Given the description of an element on the screen output the (x, y) to click on. 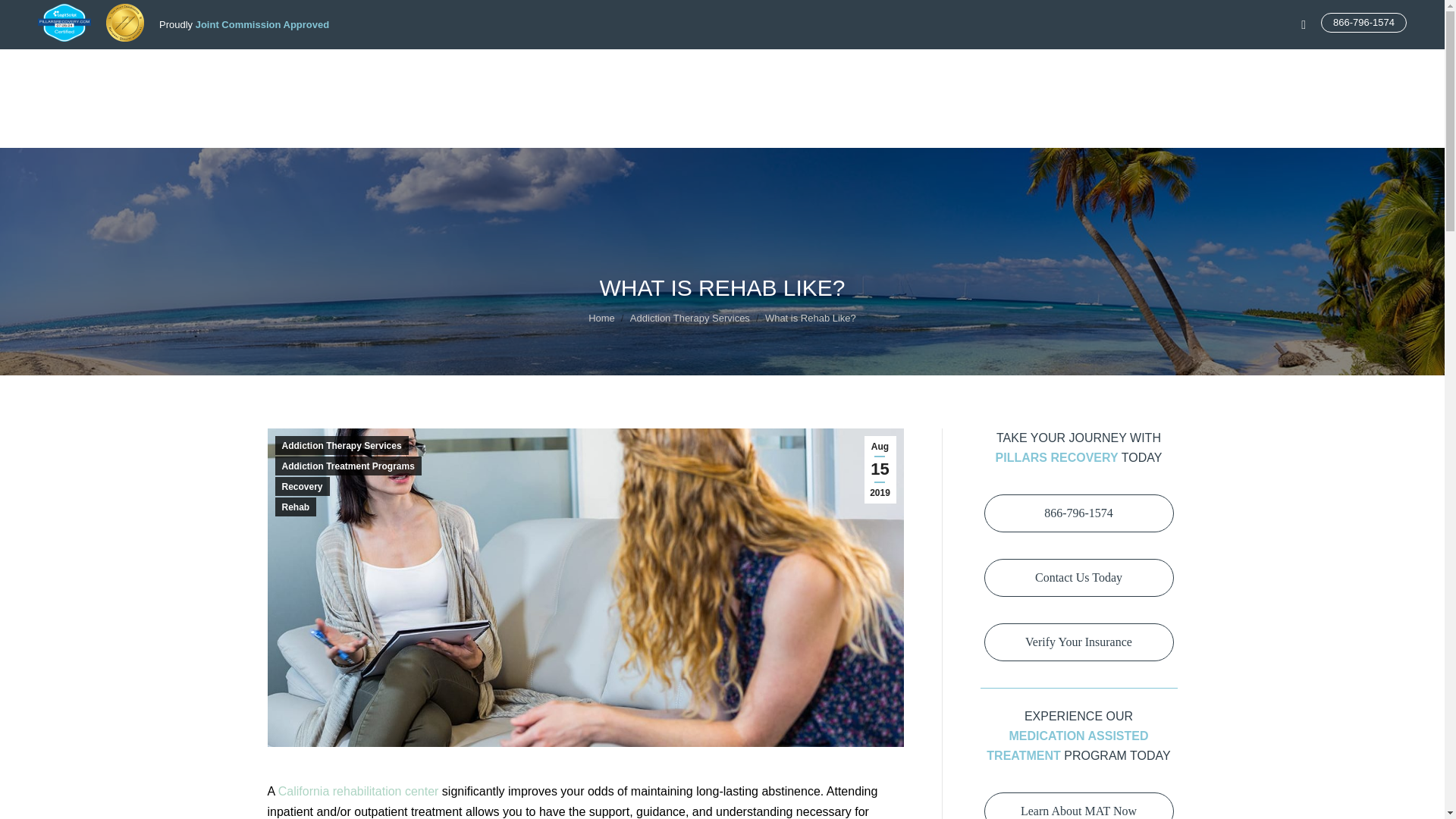
What We Treat (749, 86)
Home (590, 86)
Advanced Clinical Offerings (982, 86)
Verify LegitScript Approval (63, 38)
Go! (24, 15)
Addiction Treatment Programs (853, 86)
866-796-1574 (1363, 22)
About Pillars Recovery (660, 86)
